Given the description of an element on the screen output the (x, y) to click on. 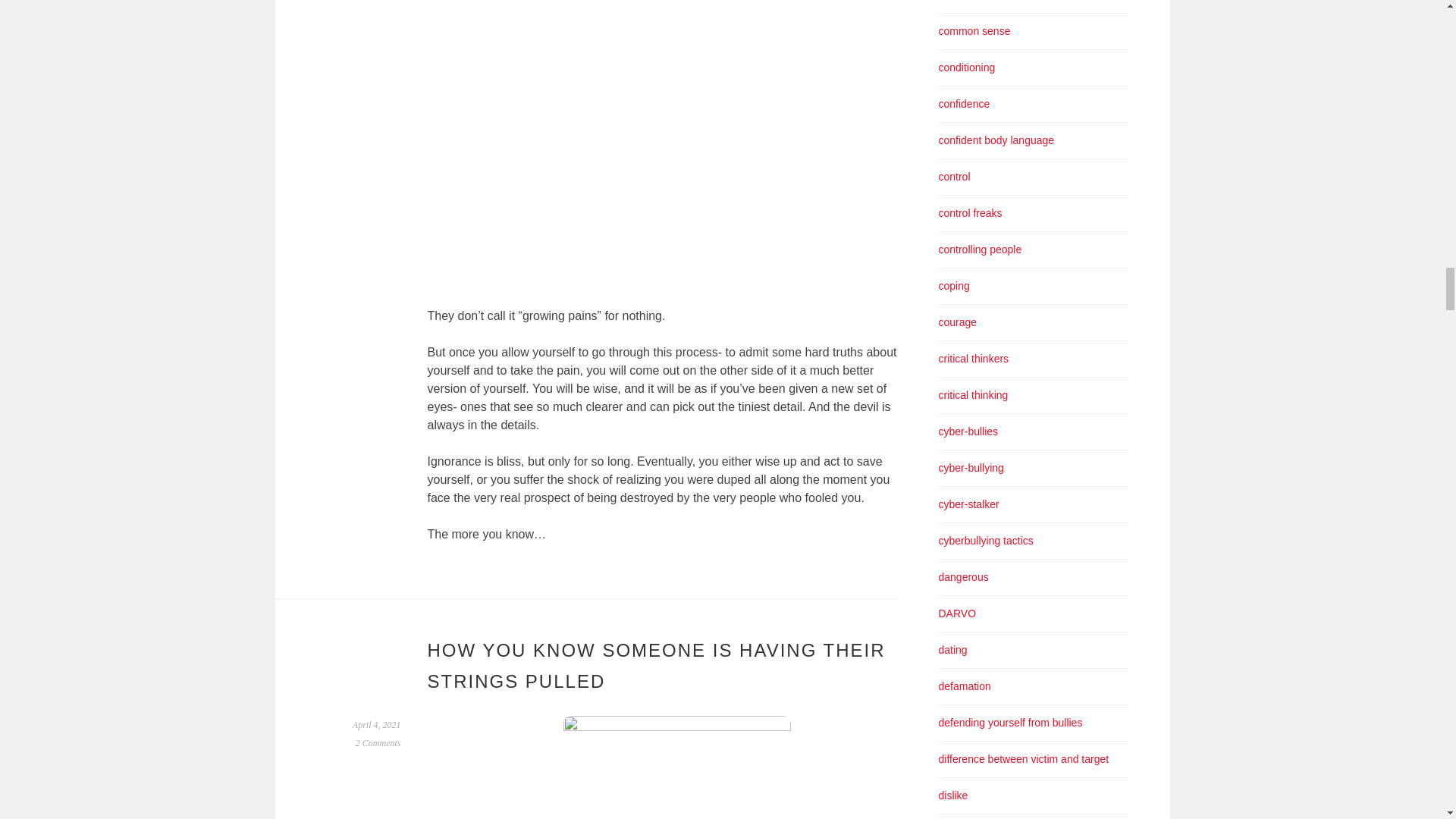
2 Comments (378, 742)
HOW YOU KNOW SOMEONE IS HAVING THEIR STRINGS PULLED (656, 665)
April 4, 2021 (376, 724)
